Given the description of an element on the screen output the (x, y) to click on. 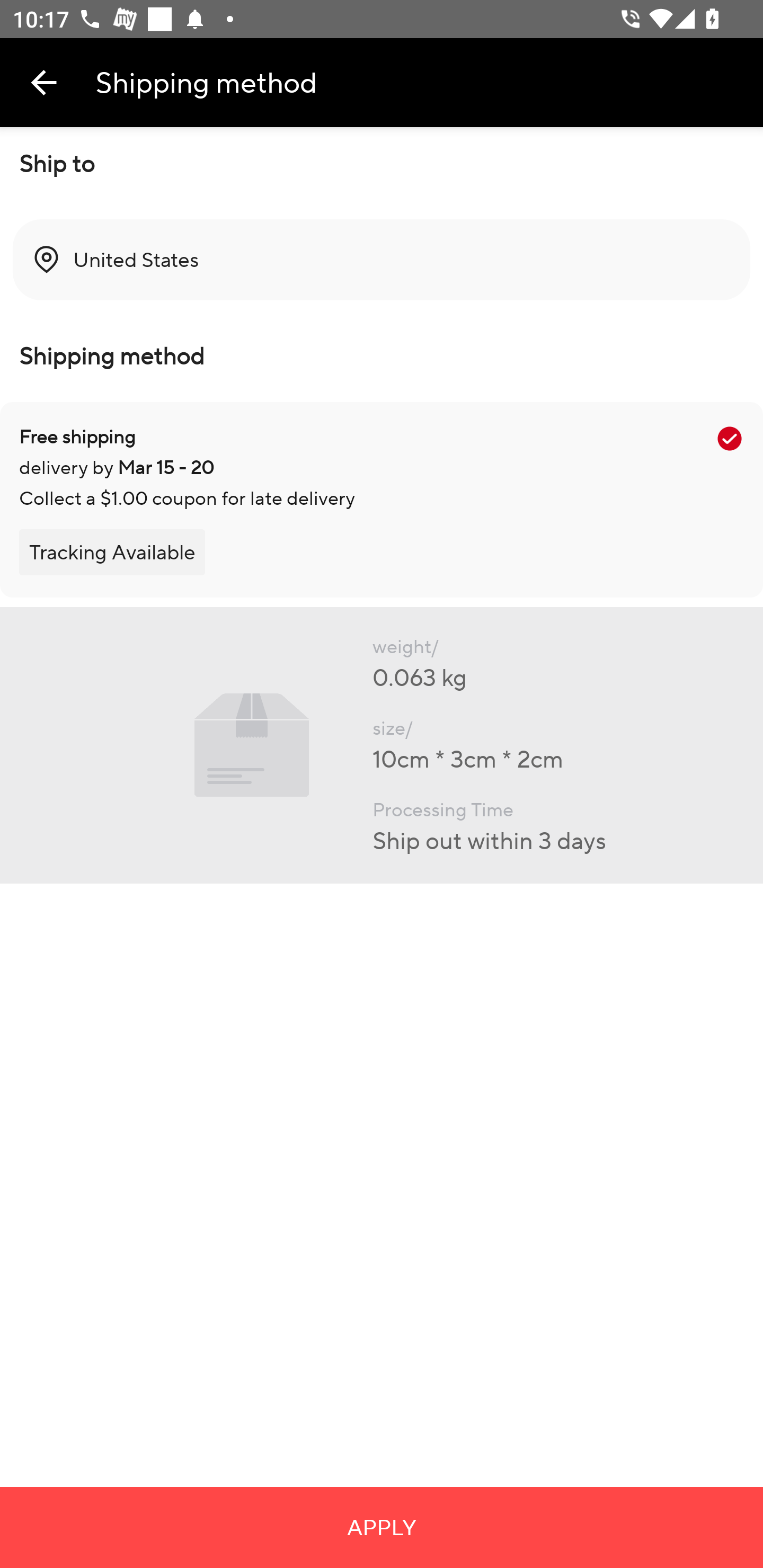
 United States (381, 260)
APPLY (381, 1527)
